Given the description of an element on the screen output the (x, y) to click on. 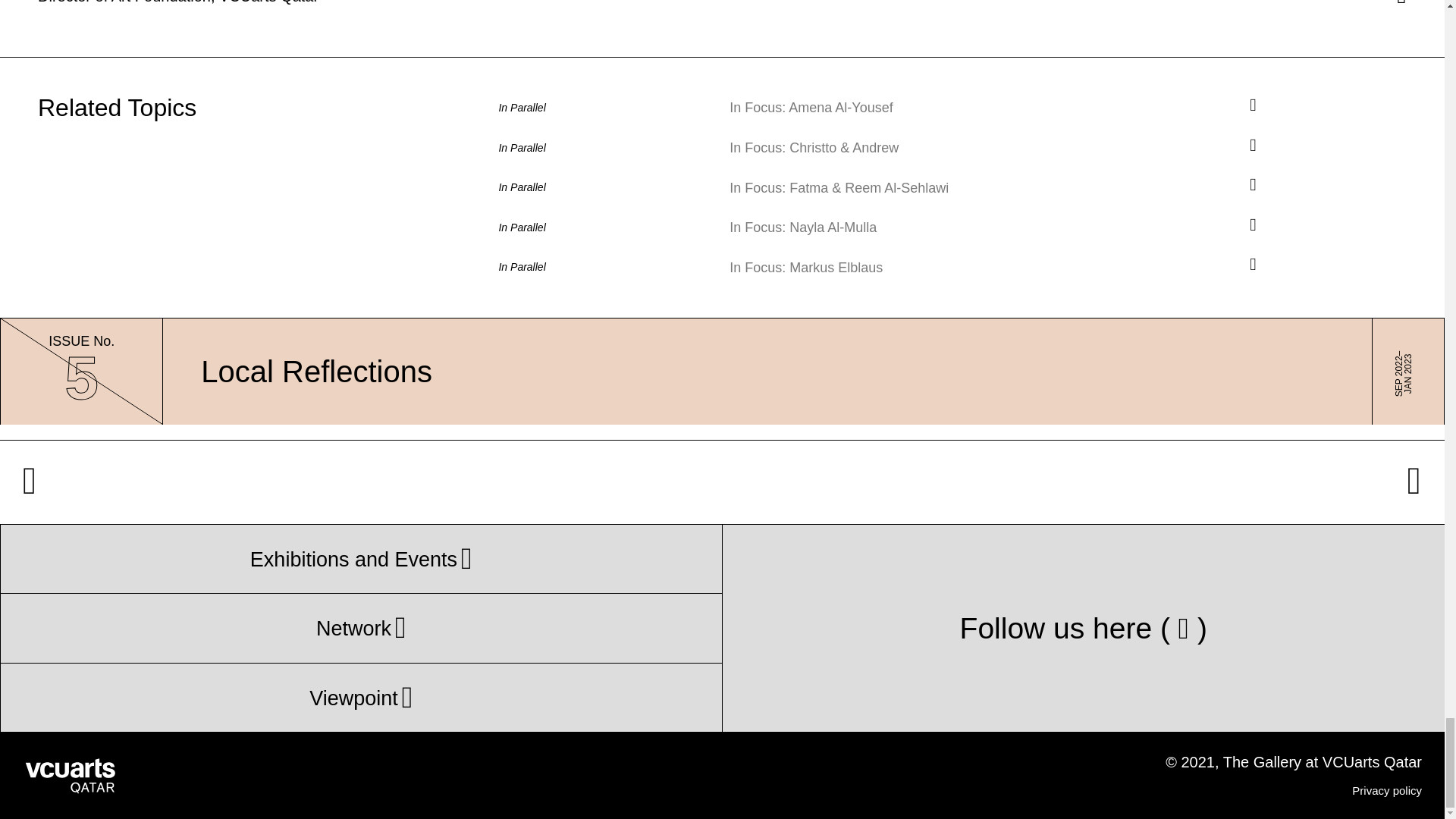
In Focus: Amena Al-Yousef (177, 2)
